Given the description of an element on the screen output the (x, y) to click on. 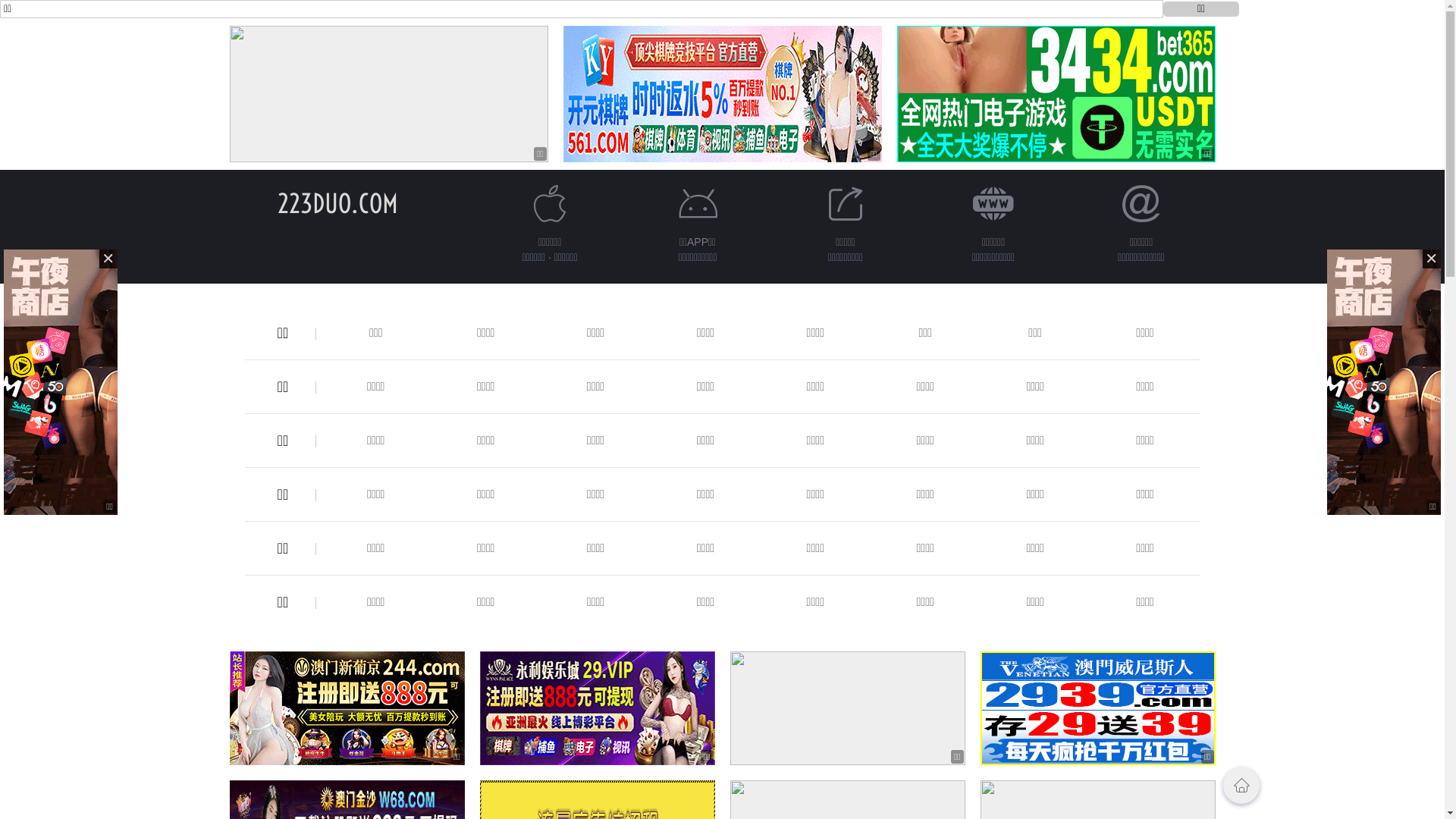
223DUO.COM Element type: text (337, 203)
